Given the description of an element on the screen output the (x, y) to click on. 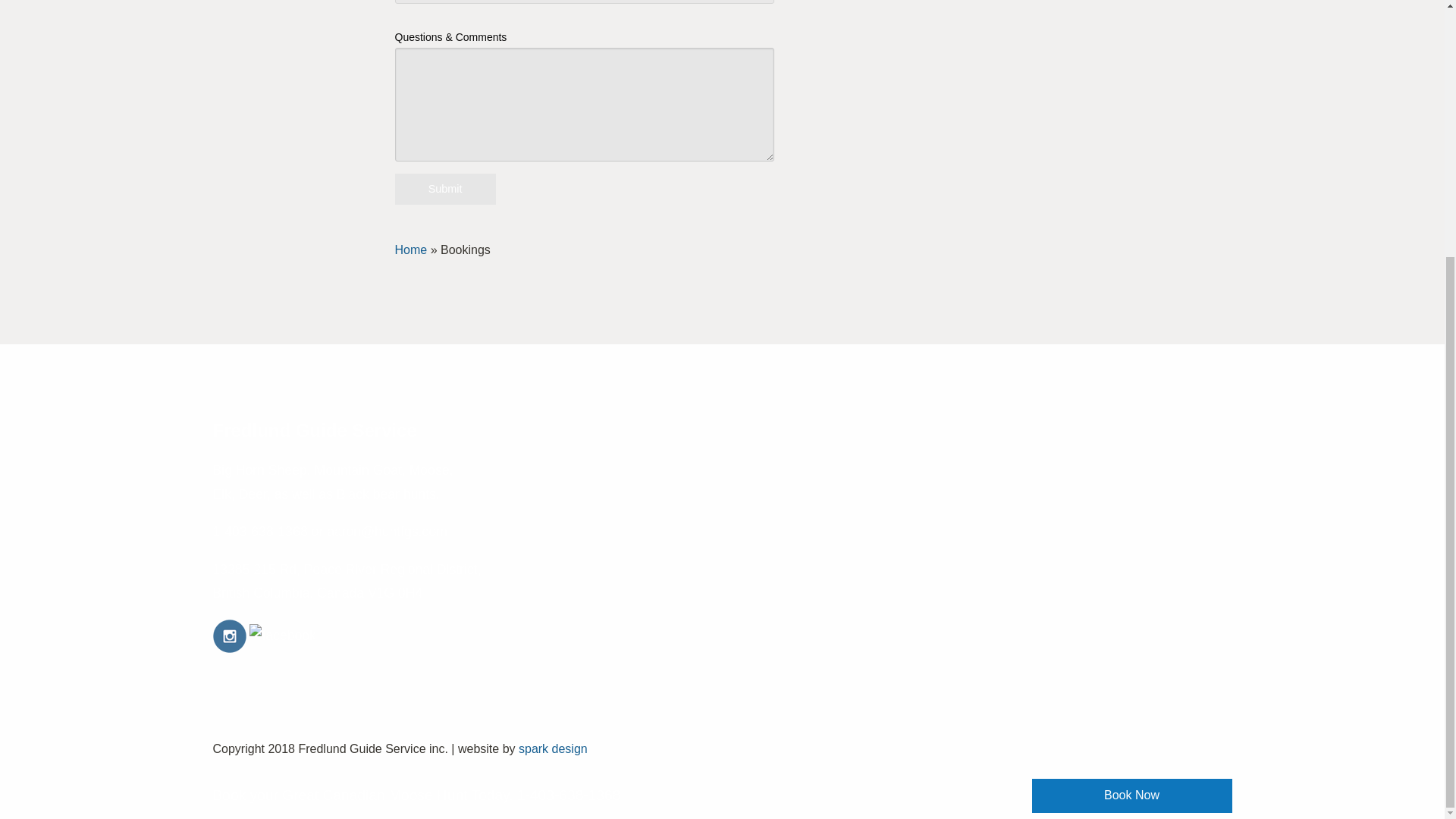
Home (411, 249)
Submit (445, 188)
Submit (445, 188)
Book Now (1130, 429)
spark design (553, 748)
